Given the description of an element on the screen output the (x, y) to click on. 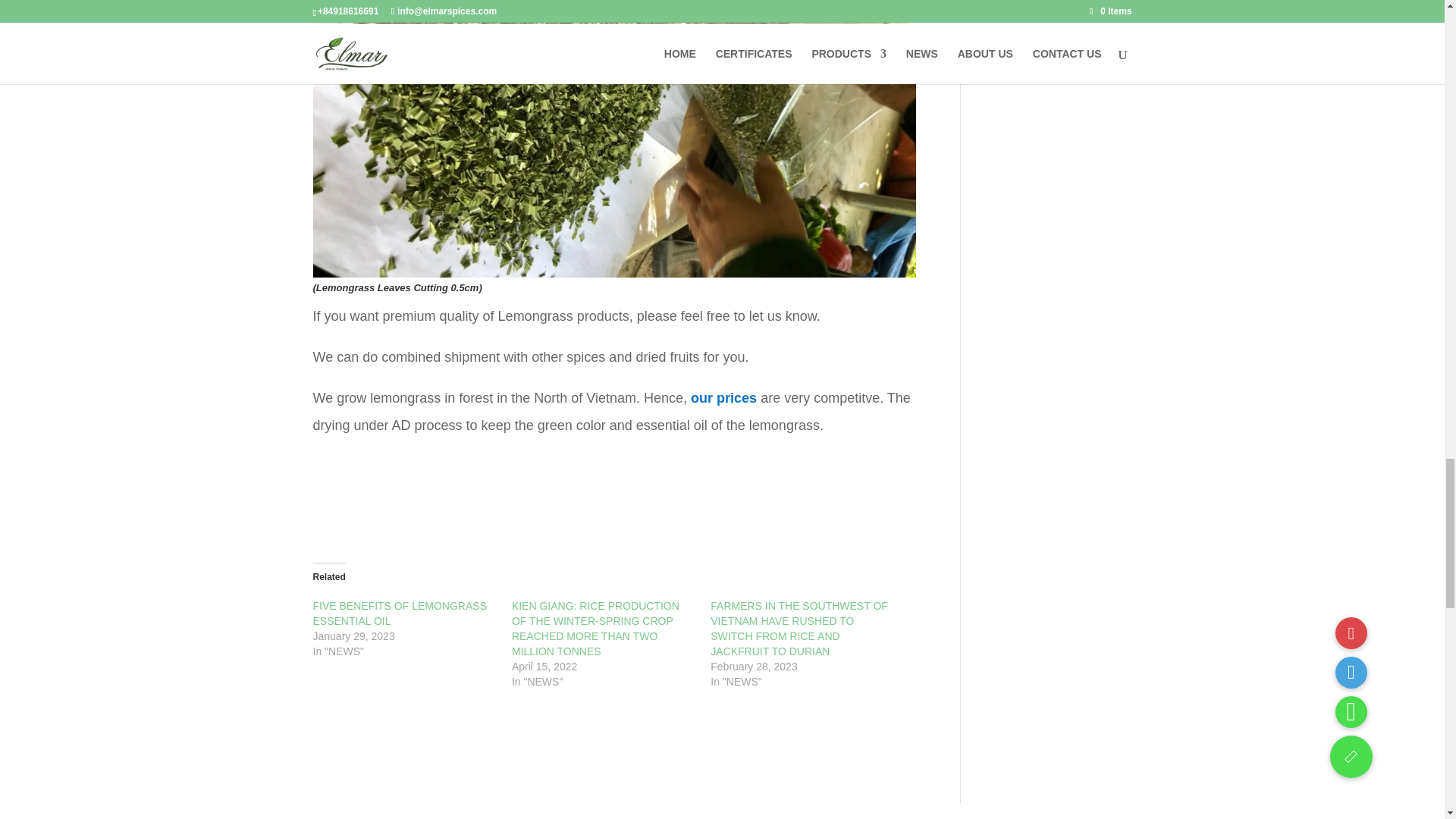
our prices (723, 397)
FIVE BENEFITS OF LEMONGRASS ESSENTIAL OIL (399, 613)
FIVE BENEFITS OF LEMONGRASS ESSENTIAL OIL (399, 613)
